Given the description of an element on the screen output the (x, y) to click on. 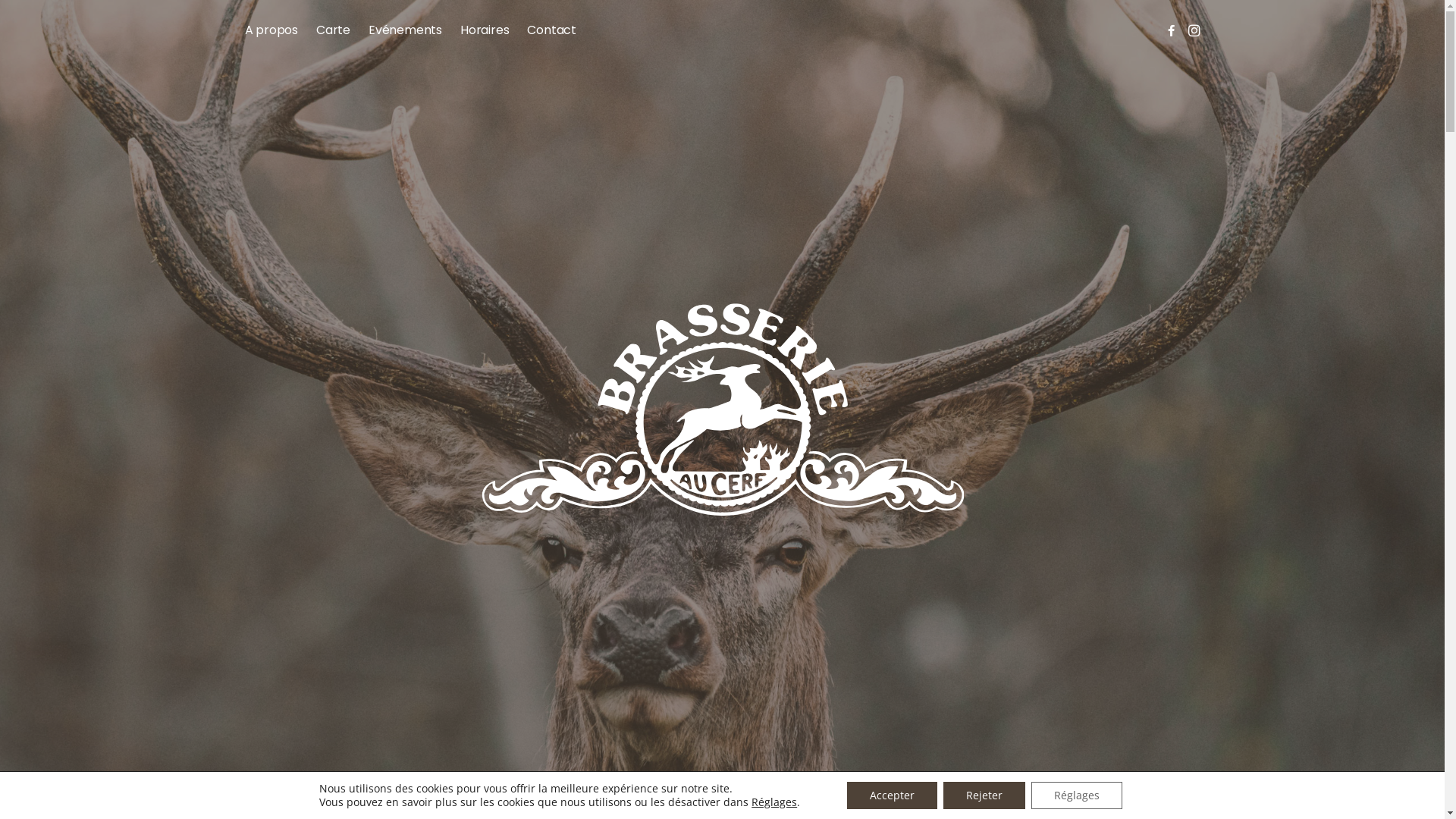
Accepter Element type: text (892, 795)
Contact Element type: text (551, 30)
Carte Element type: text (333, 30)
Rejeter Element type: text (984, 795)
Horaires Element type: text (484, 30)
A propos Element type: text (270, 30)
